Given the description of an element on the screen output the (x, y) to click on. 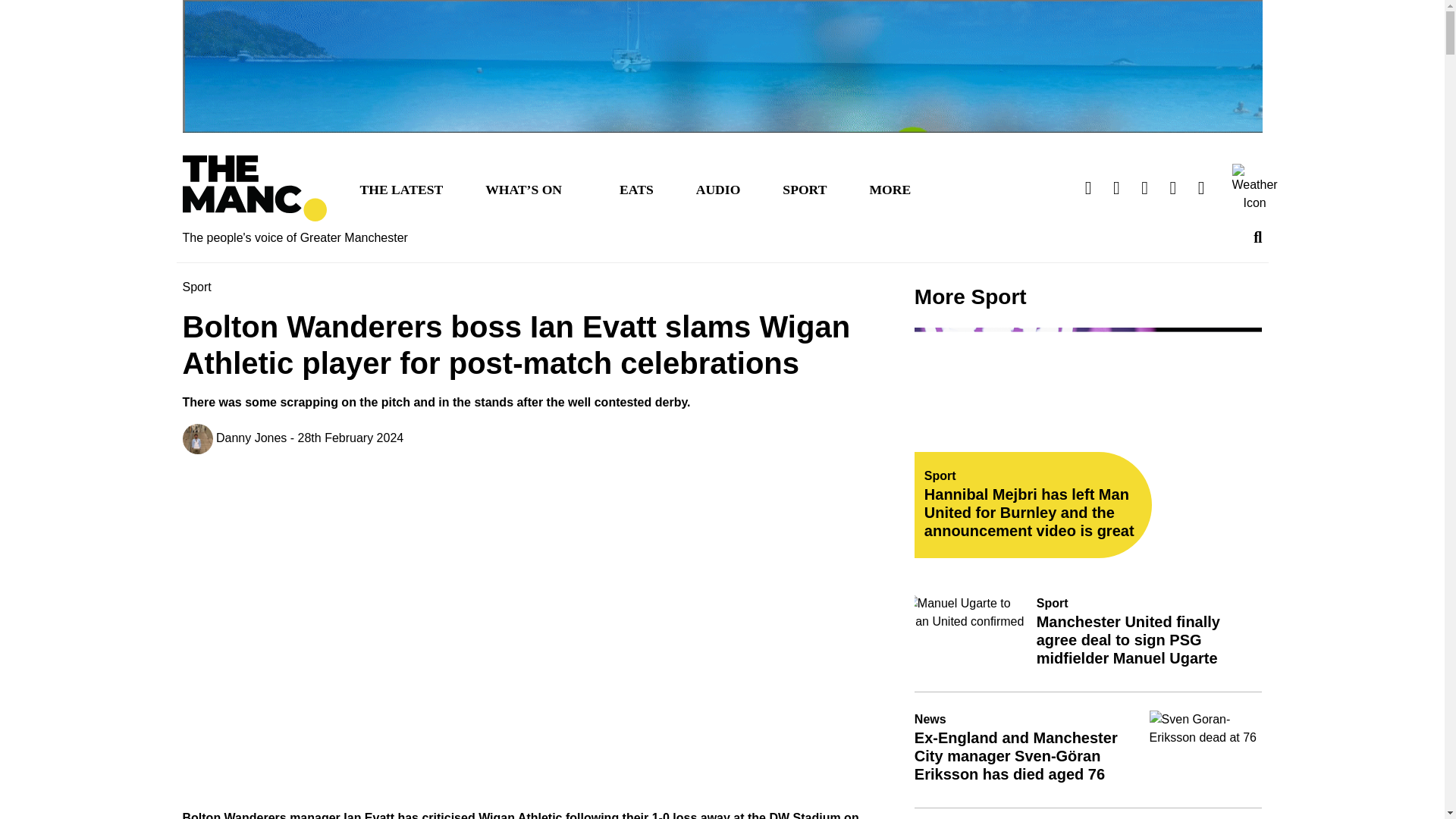
The Manc (254, 188)
MORE (890, 188)
AUDIO (718, 188)
Danny Jones (234, 439)
THE LATEST (400, 188)
SPORT (804, 188)
EATS (635, 188)
